Given the description of an element on the screen output the (x, y) to click on. 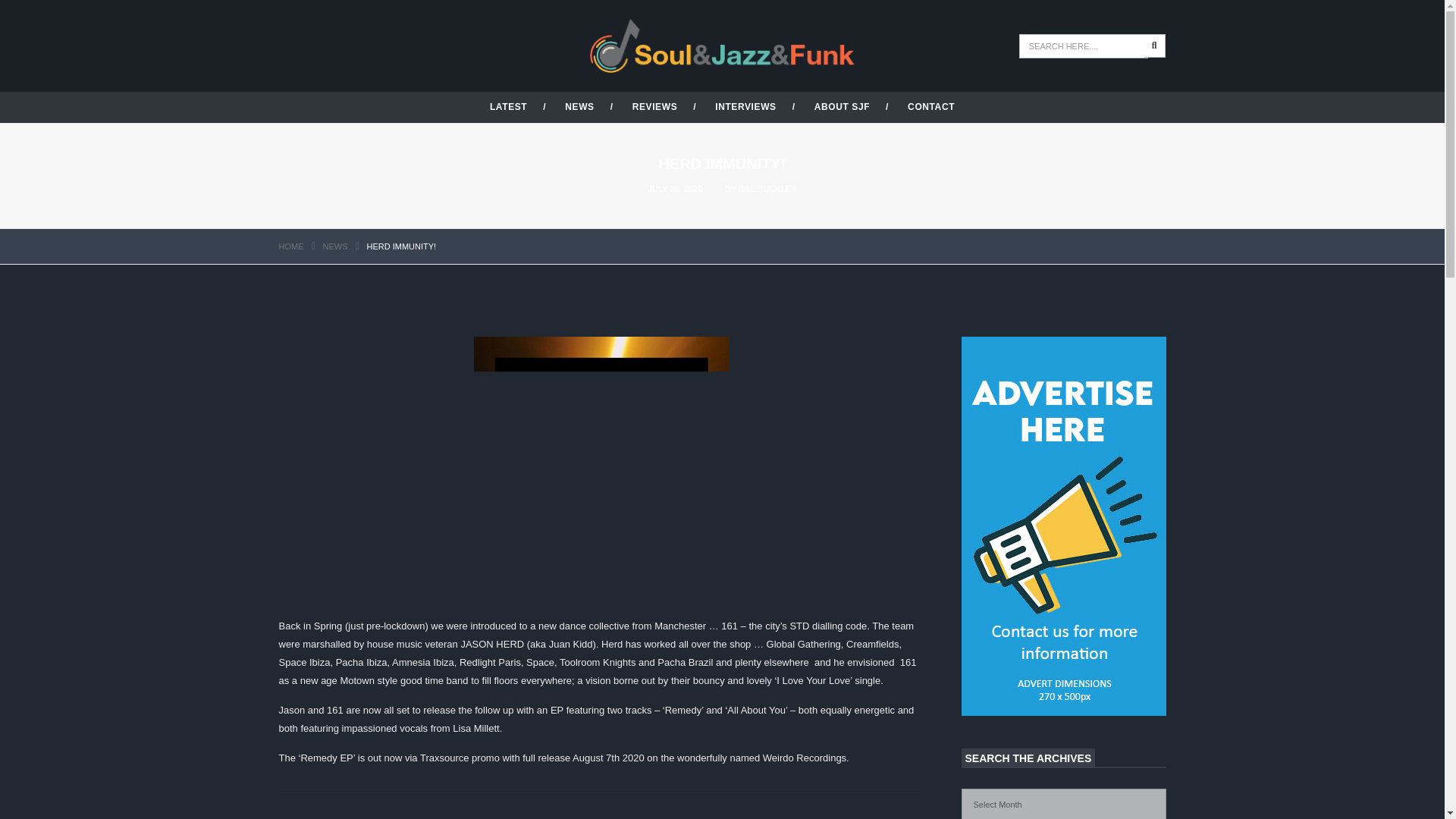
REVIEWS (654, 106)
HOME (291, 245)
NEWS (579, 106)
LATEST (508, 106)
CONTACT (931, 106)
INTERVIEWS (744, 106)
ABOUT SJF (841, 106)
Browse to: Home (291, 245)
NEWS (335, 245)
BILL BUCKLEY (767, 188)
